Given the description of an element on the screen output the (x, y) to click on. 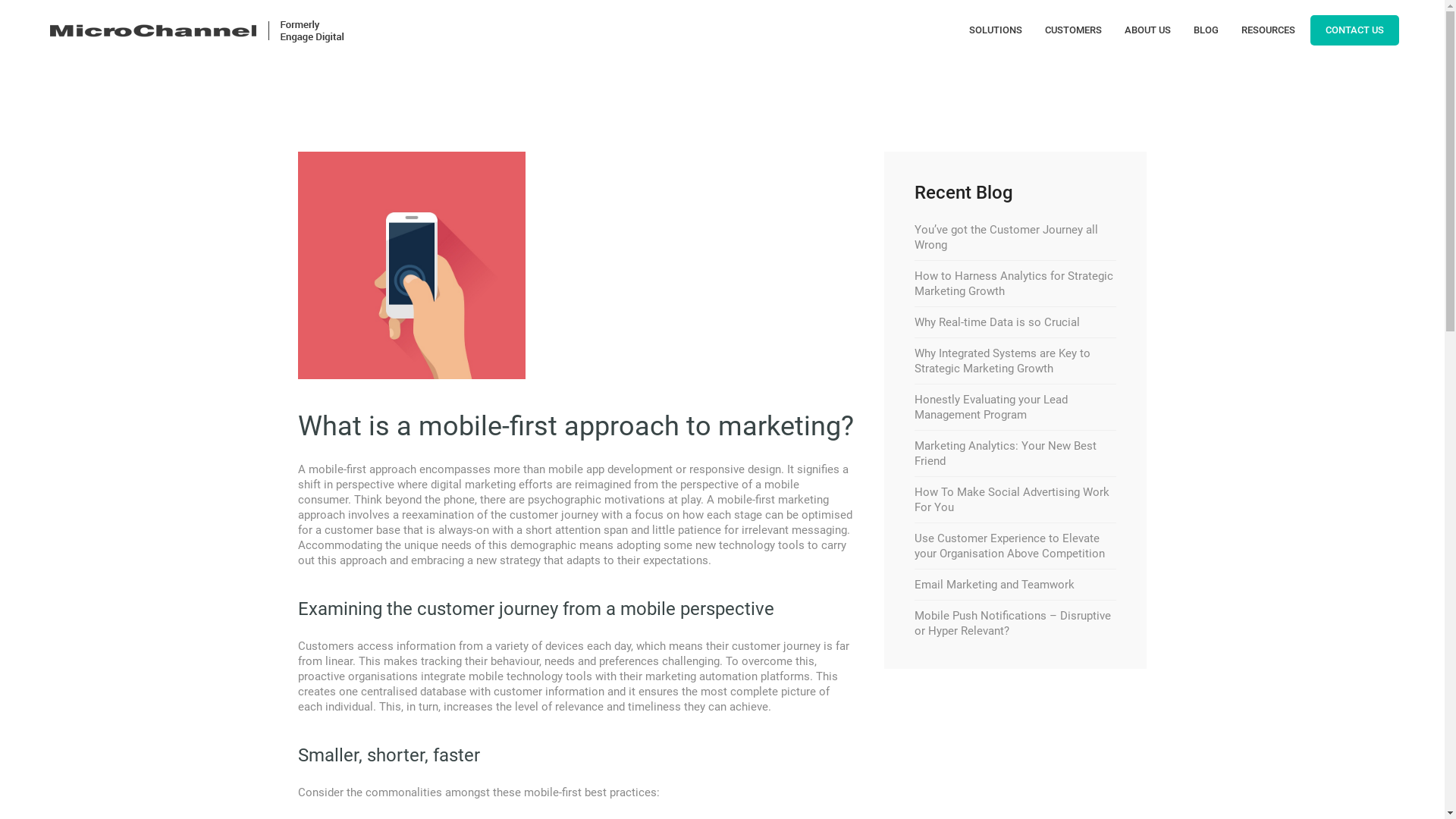
Why Integrated Systems are Key to Strategic Marketing Growth Element type: text (1002, 360)
Email Marketing and Teamwork Element type: text (994, 584)
ABOUT US Element type: text (1147, 30)
Honestly Evaluating your Lead Management Program Element type: text (990, 406)
BLOG Element type: text (1206, 30)
How to Harness Analytics for Strategic Marketing Growth Element type: text (1013, 283)
Marketing Analytics: Your New Best Friend Element type: text (1005, 453)
RESOURCES Element type: text (1267, 30)
CUSTOMERS Element type: text (1073, 30)
Why Real-time Data is so Crucial Element type: text (996, 322)
How To Make Social Advertising Work For You Element type: text (1011, 499)
CONTACT US Element type: text (1354, 30)
SOLUTIONS Element type: text (995, 30)
